Given the description of an element on the screen output the (x, y) to click on. 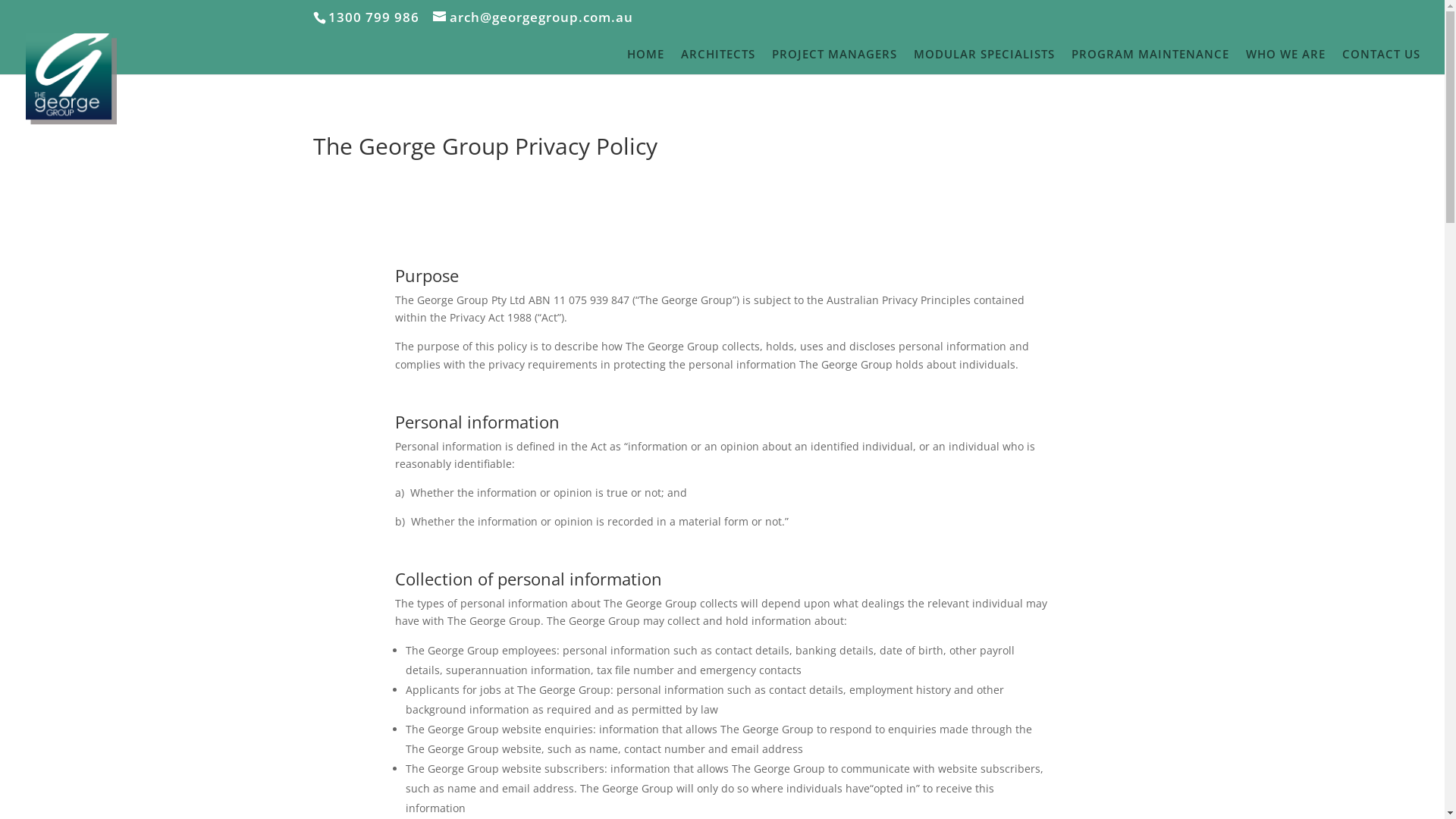
PROGRAM MAINTENANCE Element type: text (1150, 61)
arch@georgegroup.com.au Element type: text (532, 16)
CONTACT US Element type: text (1381, 61)
MODULAR SPECIALISTS Element type: text (983, 61)
ARCHITECTS Element type: text (717, 61)
PROJECT MANAGERS Element type: text (834, 61)
HOME Element type: text (645, 61)
WHO WE ARE Element type: text (1285, 61)
